Given the description of an element on the screen output the (x, y) to click on. 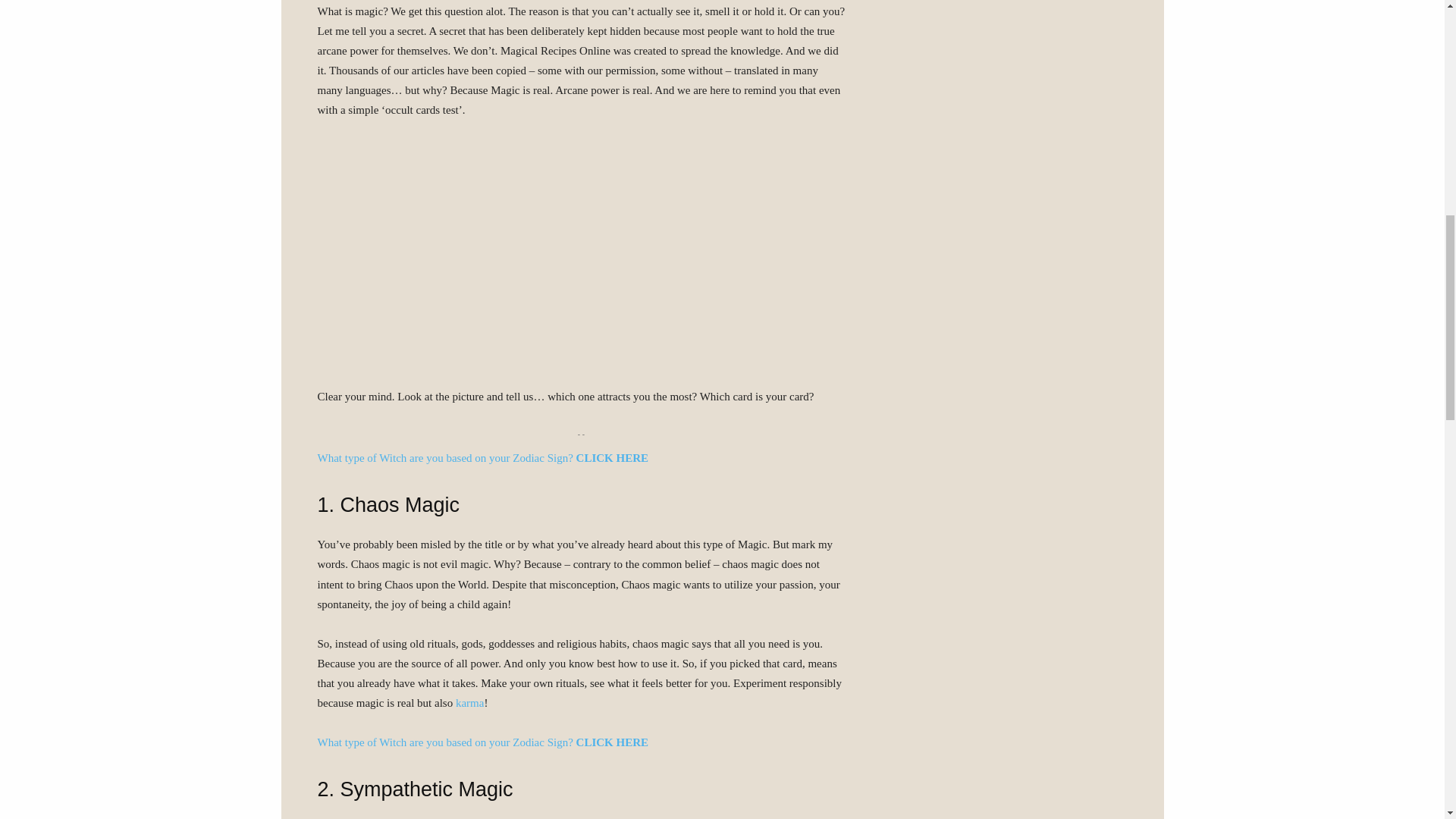
karma (469, 702)
